Given the description of an element on the screen output the (x, y) to click on. 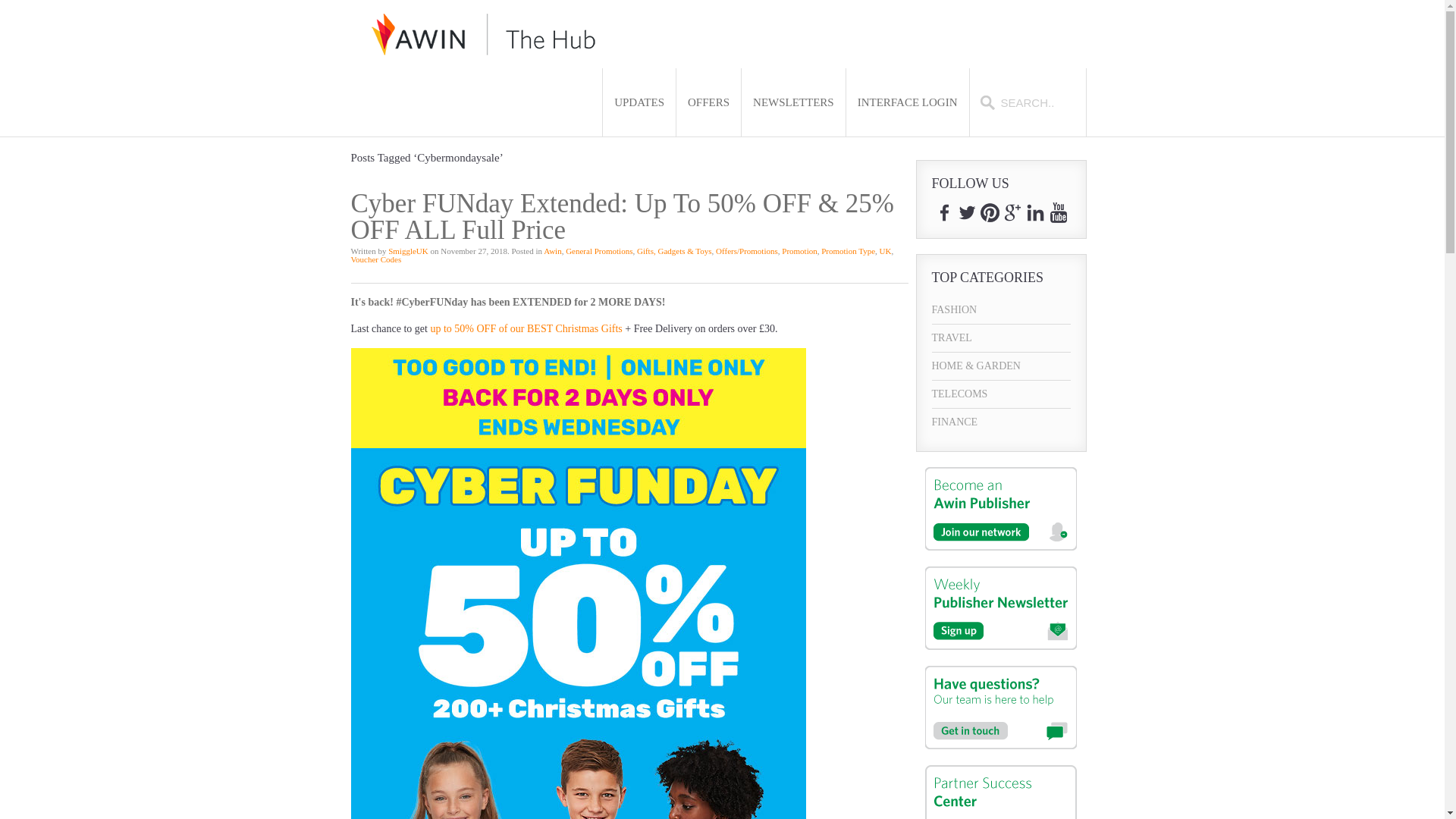
TELECOMS (1000, 393)
NEWSLETTERS (793, 102)
General Promotions (598, 250)
FASHION (1000, 309)
Interface Login (907, 102)
TRAVEL (1000, 338)
SmiggleUK (408, 250)
SmiggleUK (408, 250)
Reset (3, 2)
UK (885, 250)
